Given the description of an element on the screen output the (x, y) to click on. 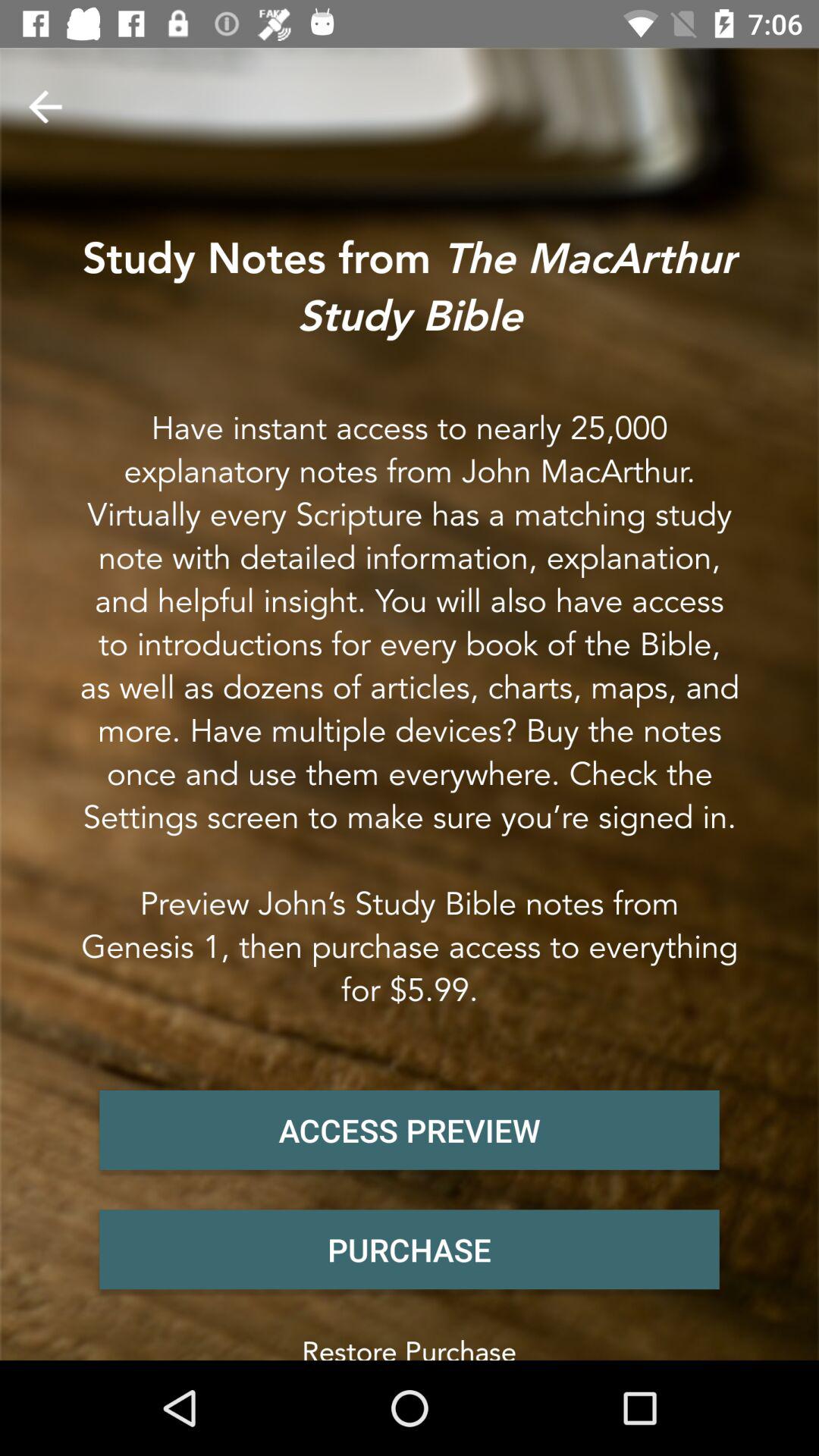
flip to the restore purchase item (409, 1344)
